Given the description of an element on the screen output the (x, y) to click on. 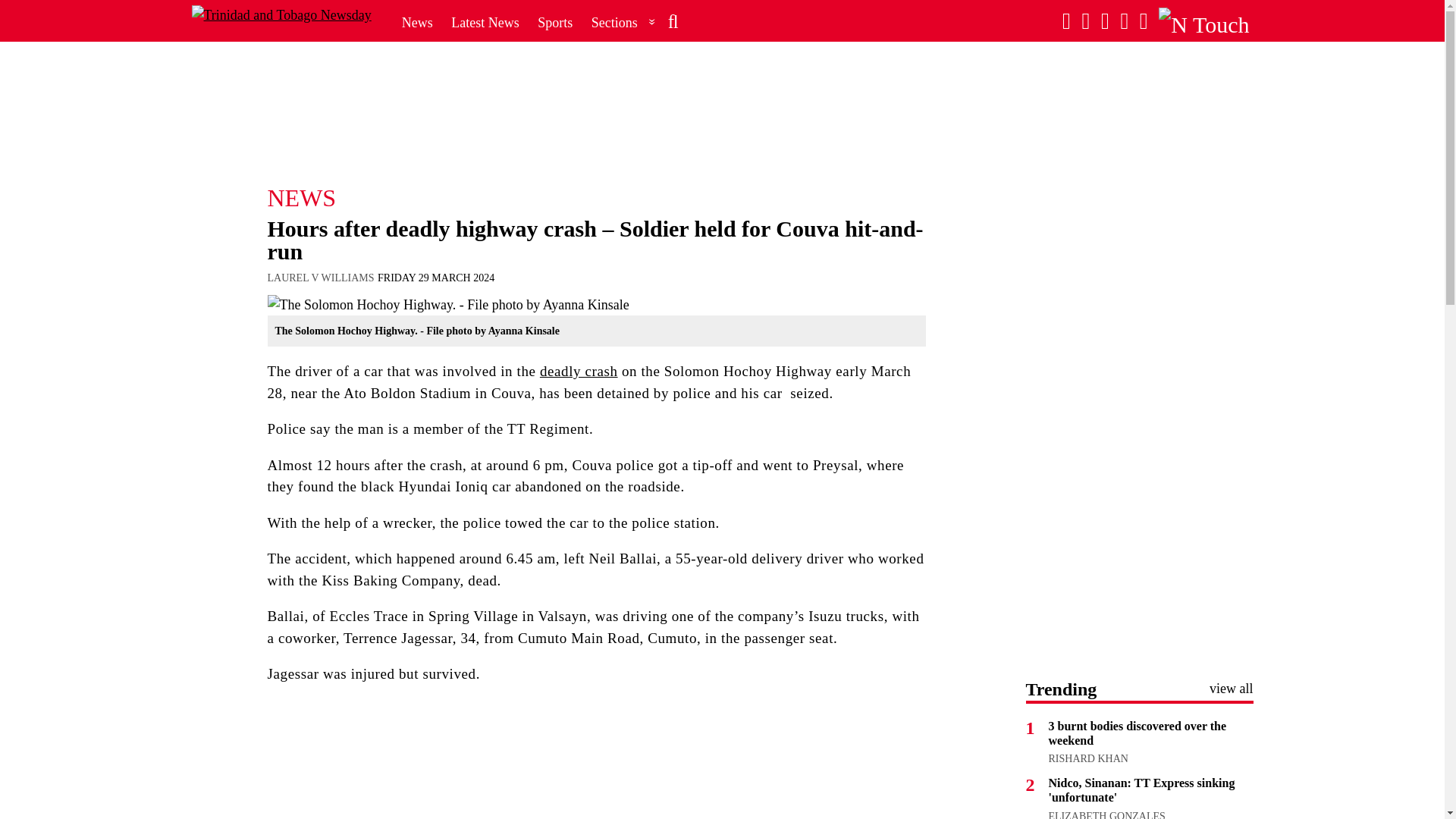
News (417, 22)
Nidco, Sinanan: TT Express sinking 'unfortunate' (1141, 789)
N Touch (1203, 20)
3 burnt bodies discovered over the weekend (1136, 732)
Sports (554, 22)
Sections (623, 22)
deadly crash (578, 371)
ELIZABETH GONZALES (1106, 814)
Latest News (484, 22)
NEWS (595, 197)
